Given the description of an element on the screen output the (x, y) to click on. 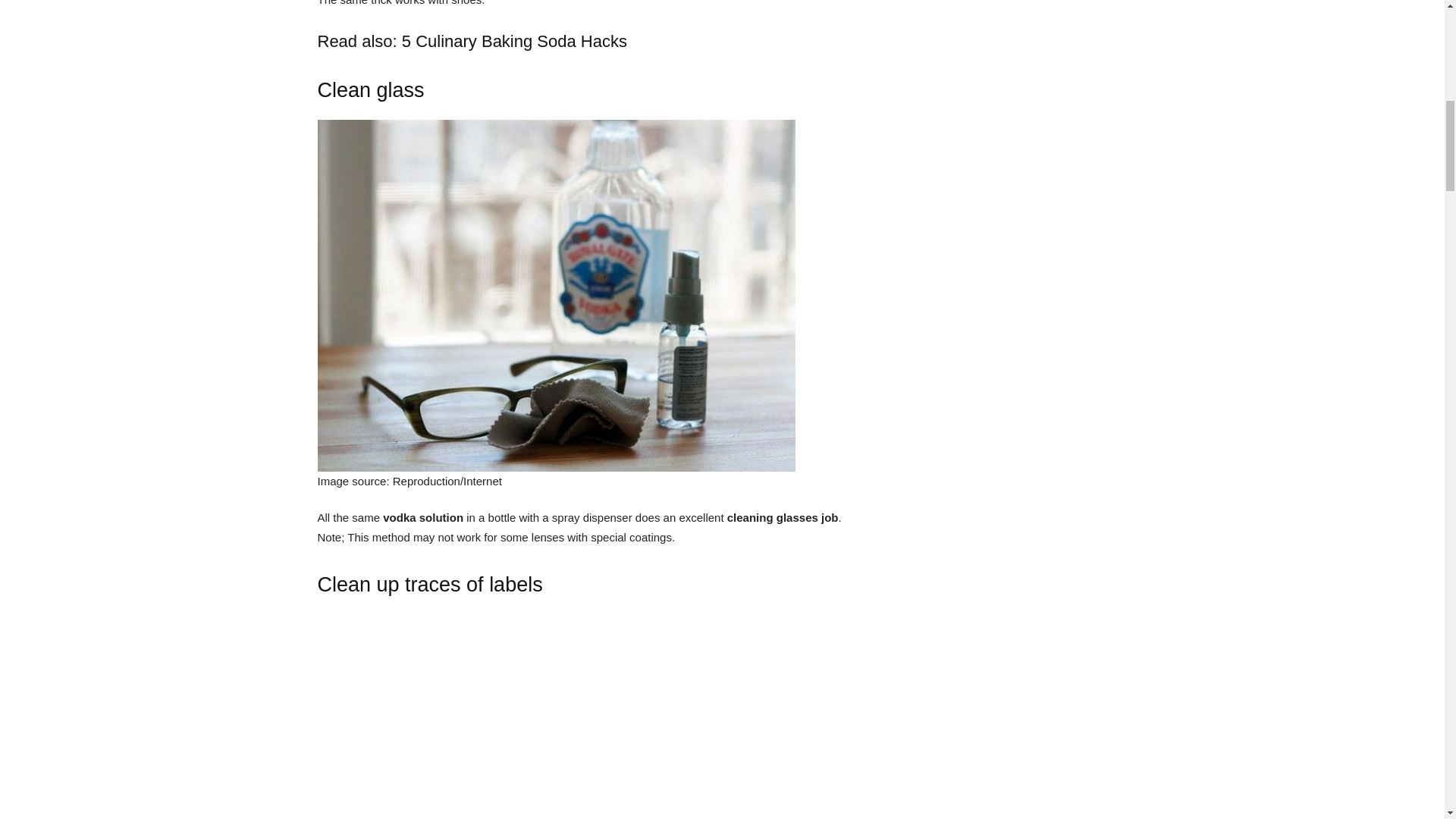
5 Culinary Baking Soda Hacks (514, 40)
